Given the description of an element on the screen output the (x, y) to click on. 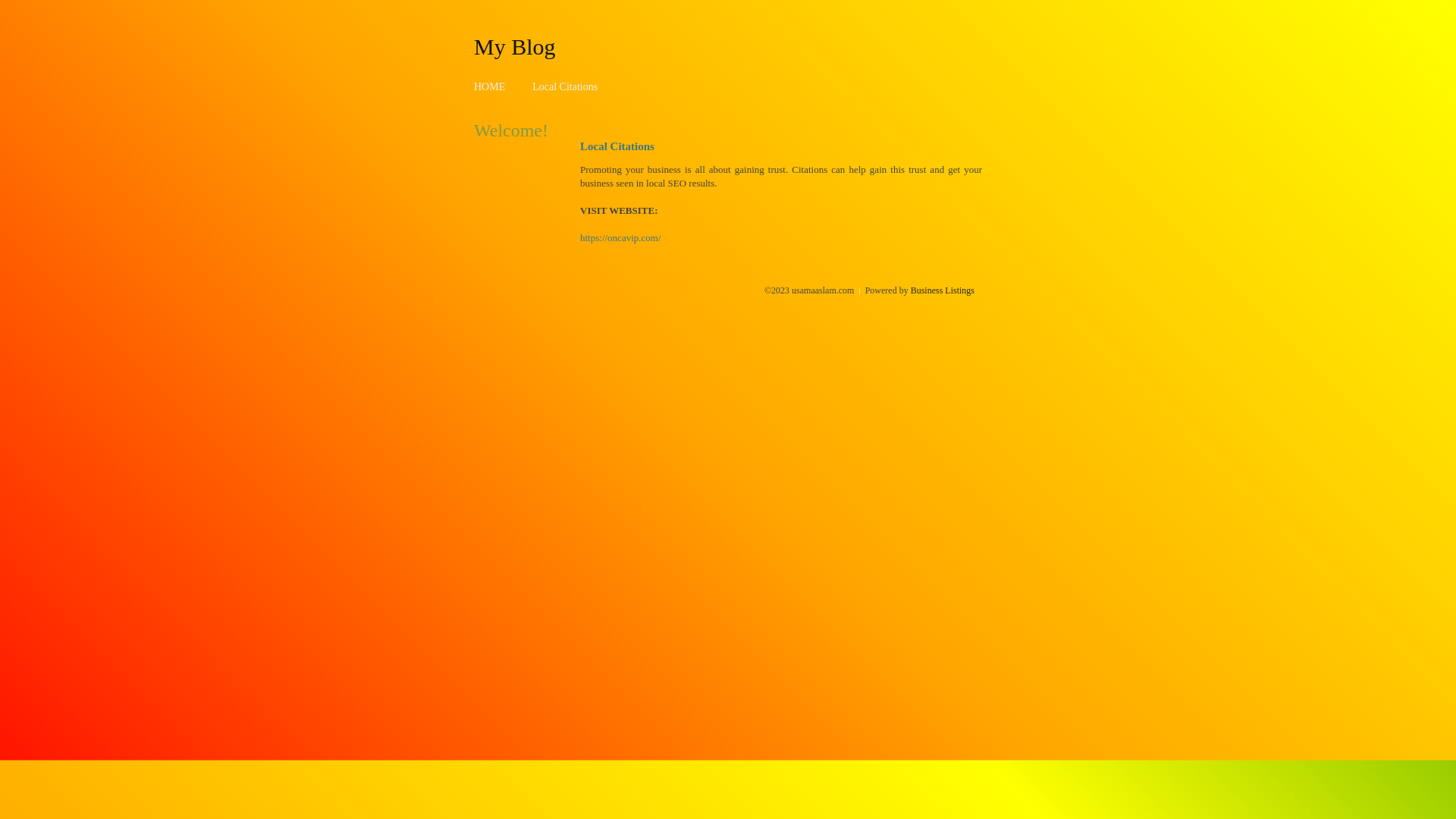
HOME Element type: text (489, 86)
Local Citations Element type: text (564, 86)
https://oncavip.com/ Element type: text (620, 237)
My Blog Element type: text (514, 46)
Business Listings Element type: text (942, 290)
